Given the description of an element on the screen output the (x, y) to click on. 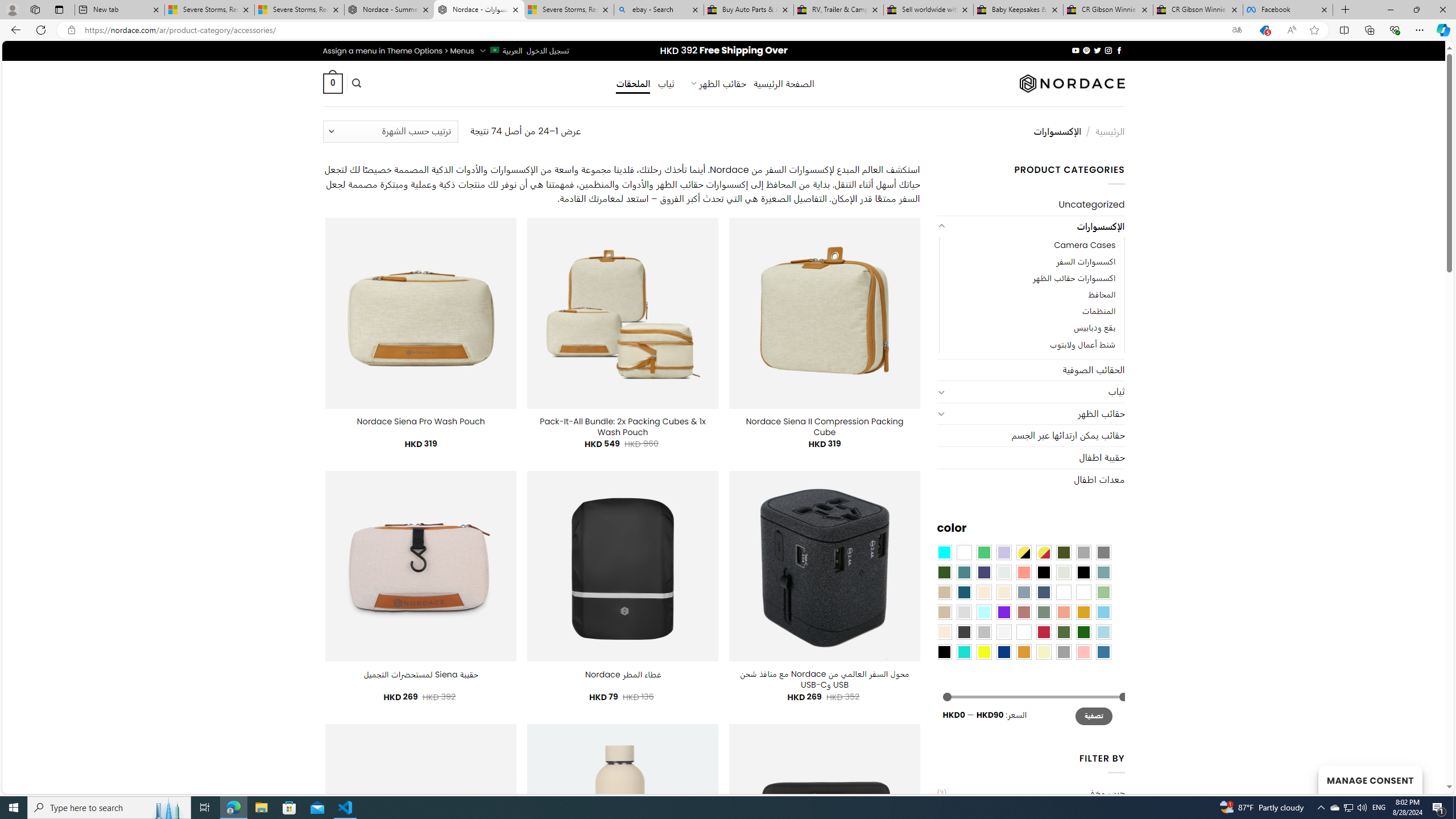
Nordace Siena II Compression Packing Cube (824, 427)
Light Taupe (944, 611)
Follow on YouTube (1074, 50)
Blue Sage (1103, 572)
Show translate options (1236, 29)
Nordace (1072, 83)
